Given the description of an element on the screen output the (x, y) to click on. 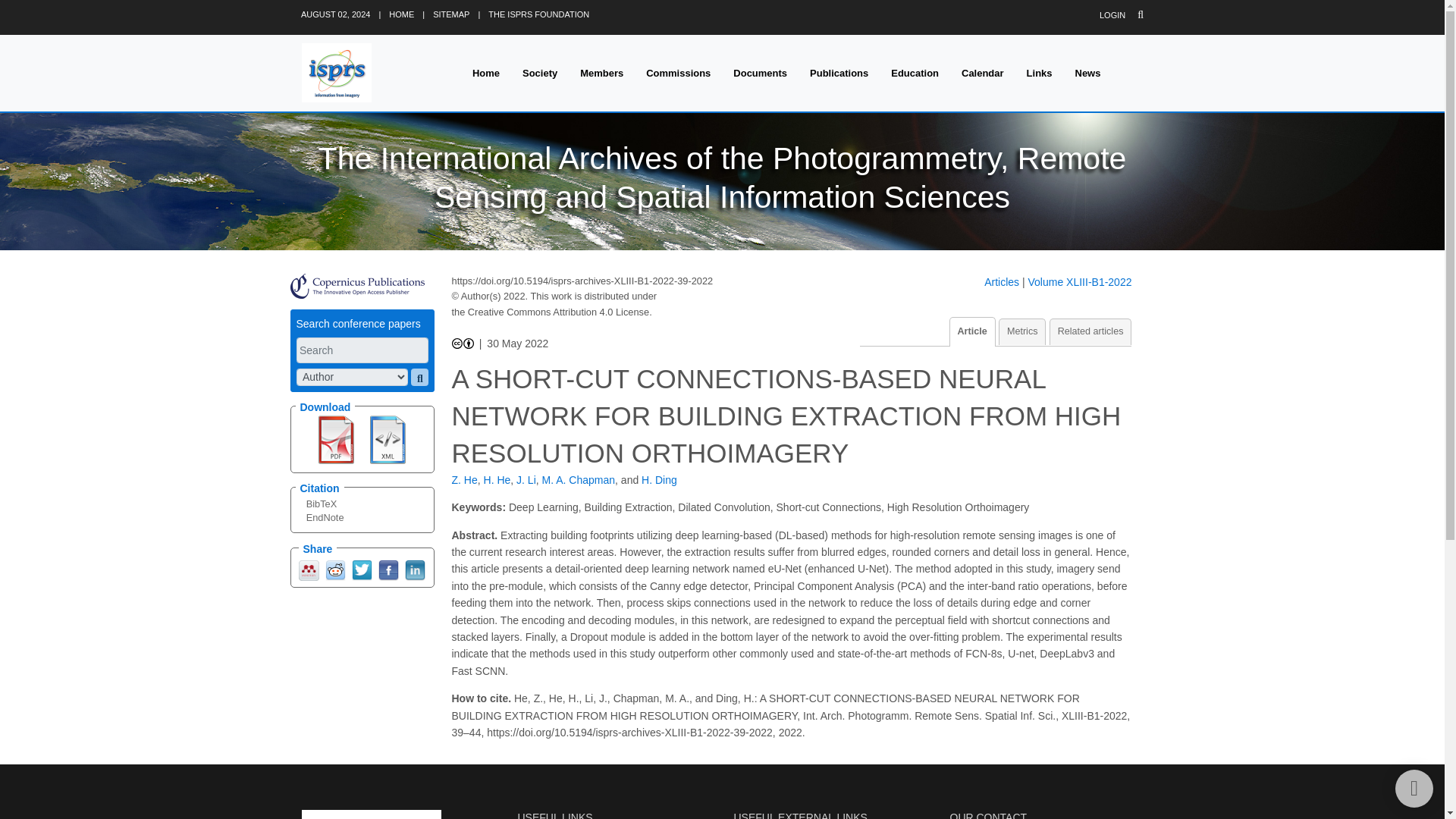
THE ISPRS FOUNDATION (538, 13)
SITEMAP (450, 13)
Society (539, 73)
HOME (400, 13)
Home (485, 73)
LOGIN (1112, 14)
